Given the description of an element on the screen output the (x, y) to click on. 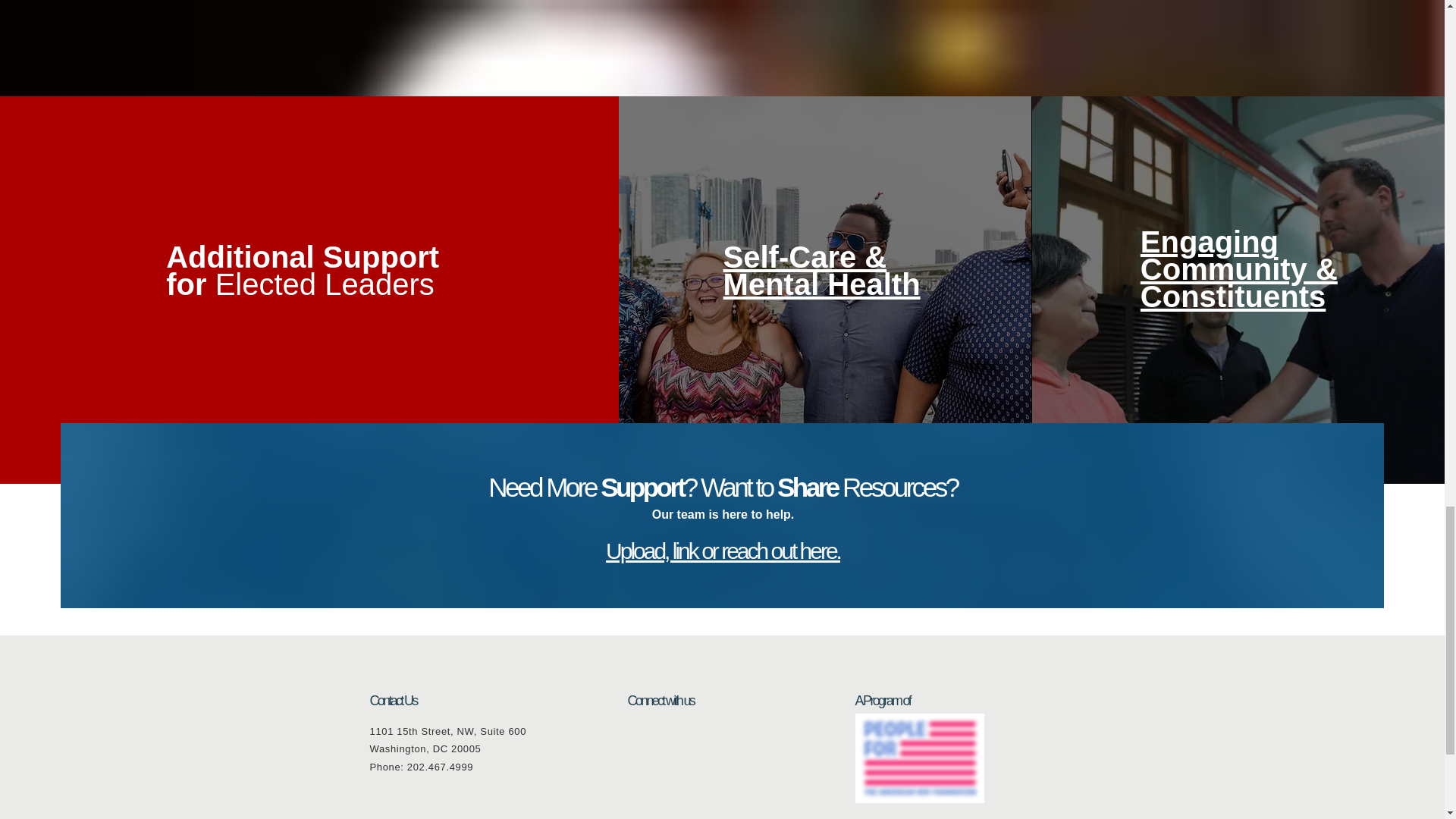
Upload, link or reach out here. (722, 550)
